Given the description of an element on the screen output the (x, y) to click on. 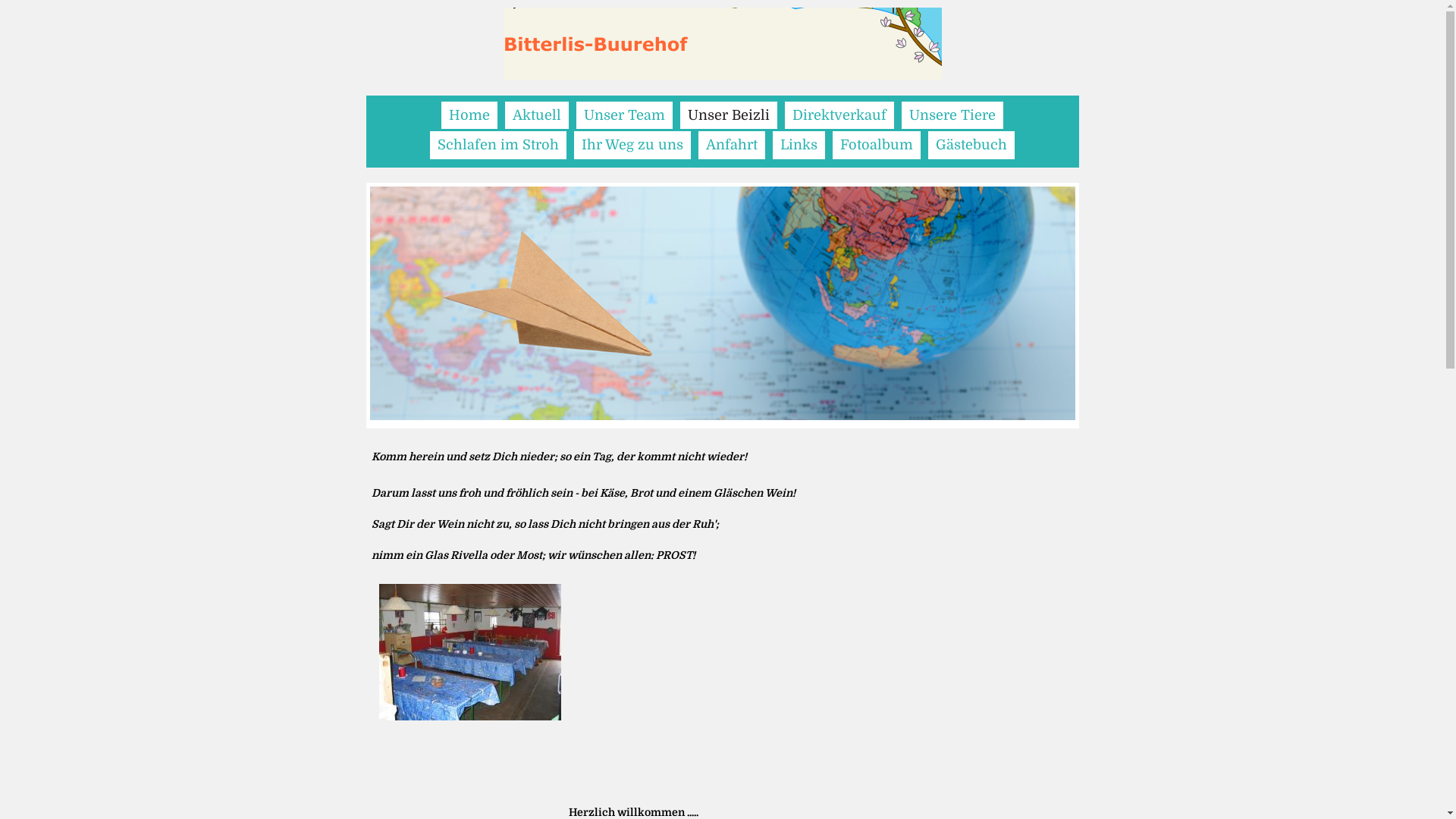
Fotoalbum Element type: text (876, 144)
Anfahrt Element type: text (731, 144)
Unser Team Element type: text (624, 114)
Direktverkauf Element type: text (839, 114)
Schlafen im Stroh Element type: text (497, 144)
Links Element type: text (798, 144)
Ihr Weg zu uns Element type: text (632, 144)
Unsere Tiere Element type: text (952, 114)
Home Element type: text (469, 114)
Aktuell Element type: text (536, 114)
Unser Beizli Element type: text (728, 114)
